Given the description of an element on the screen output the (x, y) to click on. 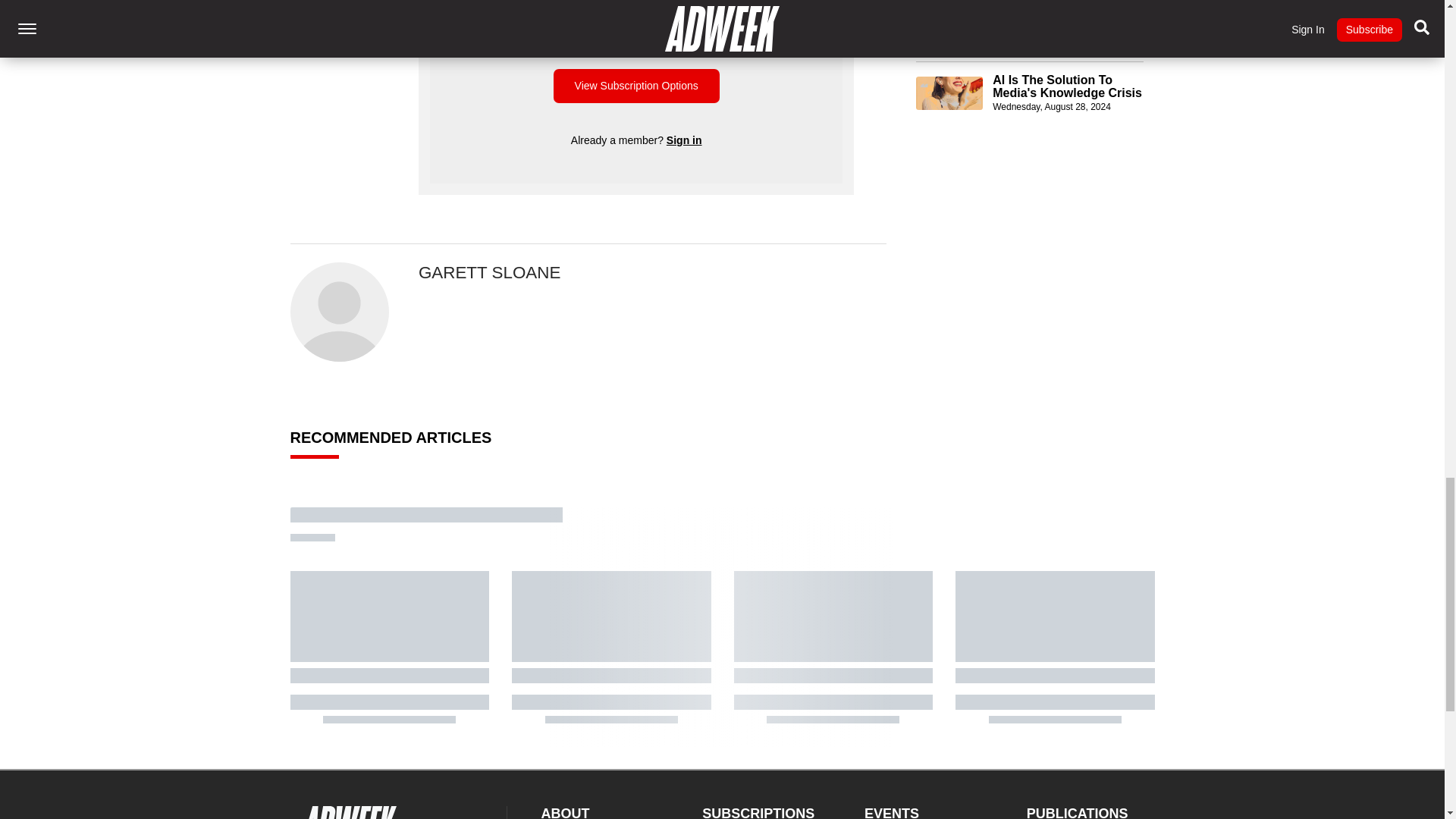
View Subscription Options (636, 84)
Qatalog-Webinar-082824-Header (948, 92)
PixabilityWebinar082724Header (948, 16)
